Given the description of an element on the screen output the (x, y) to click on. 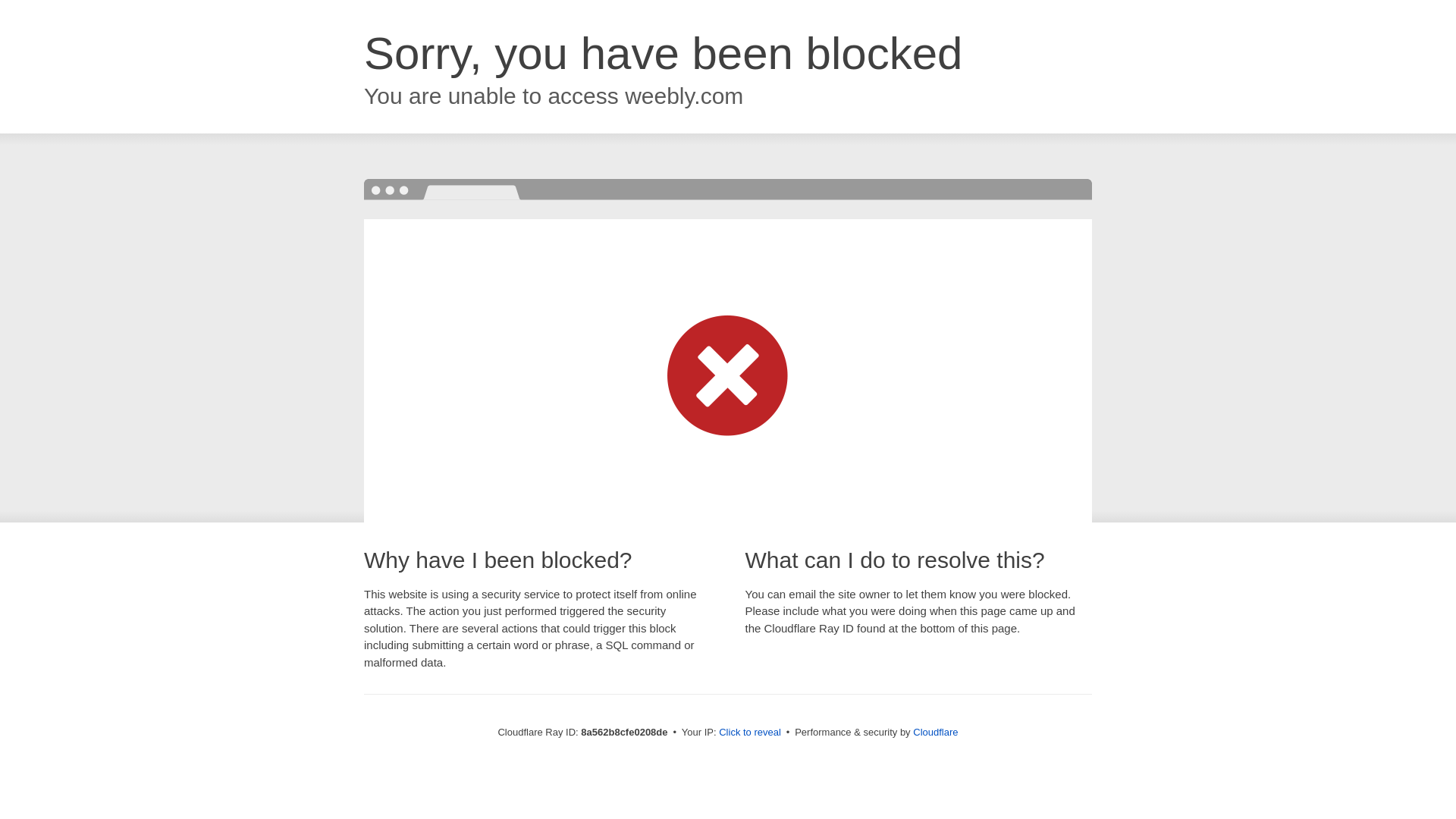
Click to reveal (749, 732)
Cloudflare (935, 731)
